Given the description of an element on the screen output the (x, y) to click on. 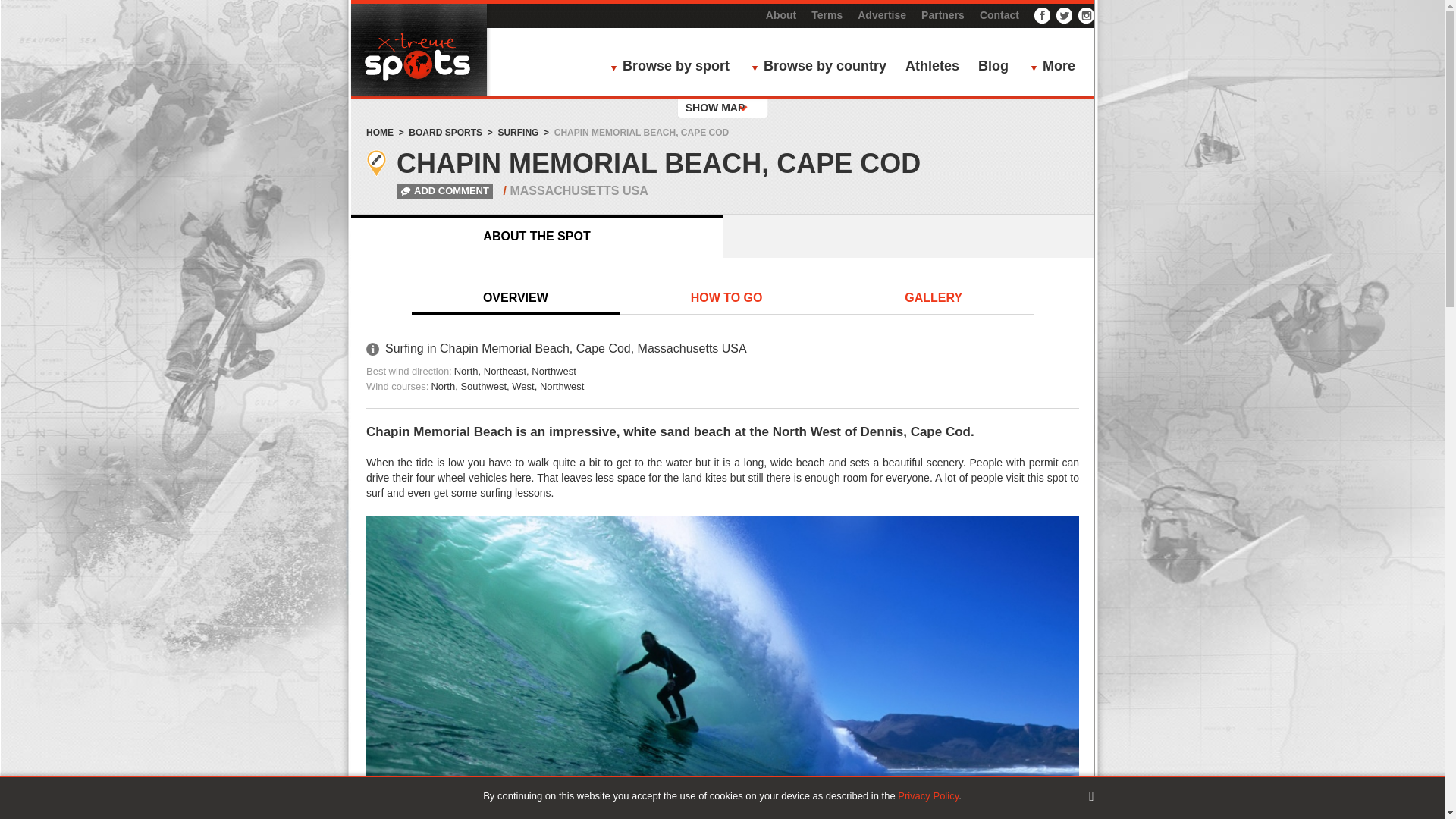
About (780, 15)
Athletes (932, 67)
BOARD SPORTS (445, 132)
Advertise (881, 15)
Contact (999, 15)
ADD COMMENT (431, 190)
SURFING (517, 132)
More (1056, 67)
Browse by sport (674, 67)
GALLERY (932, 298)
HOW TO GO (727, 298)
Partners (942, 15)
Terms (826, 15)
OVERVIEW (516, 298)
